Given the description of an element on the screen output the (x, y) to click on. 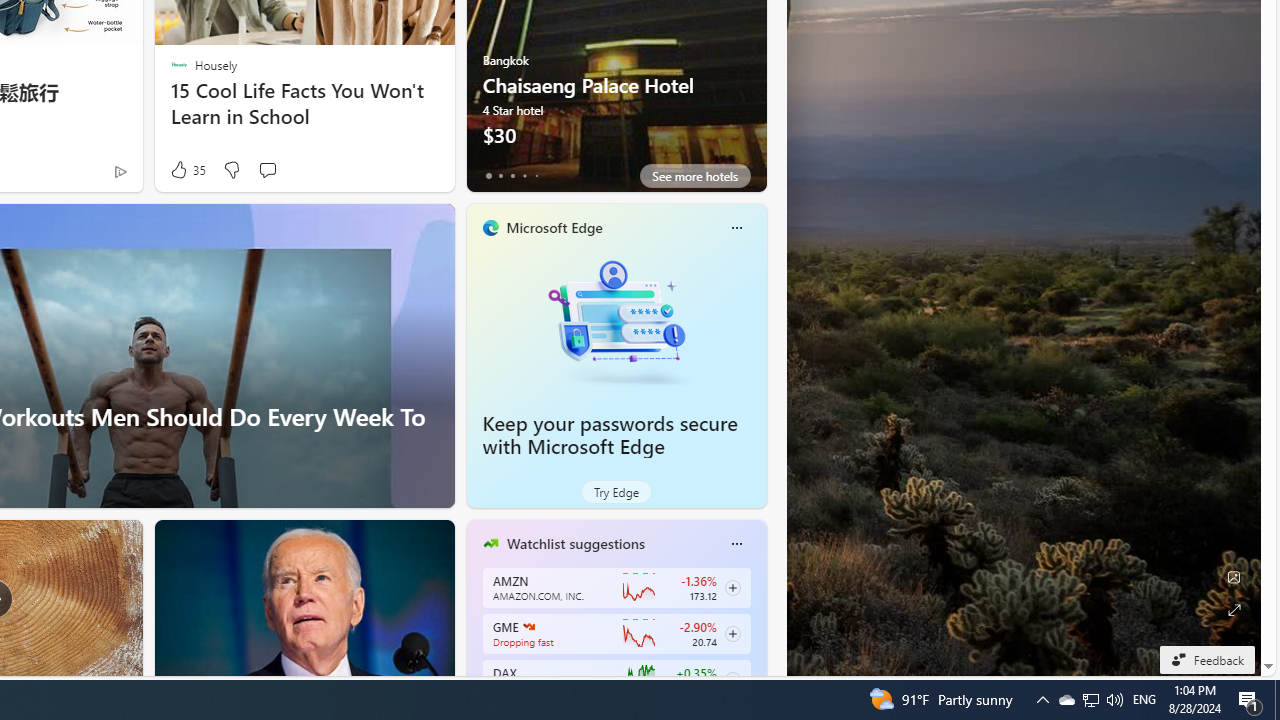
35 Like (186, 170)
Expand background (1233, 610)
tab-4 (535, 175)
Edit Background (1233, 577)
tab-3 (524, 175)
Microsoft Edge (553, 227)
